Given the description of an element on the screen output the (x, y) to click on. 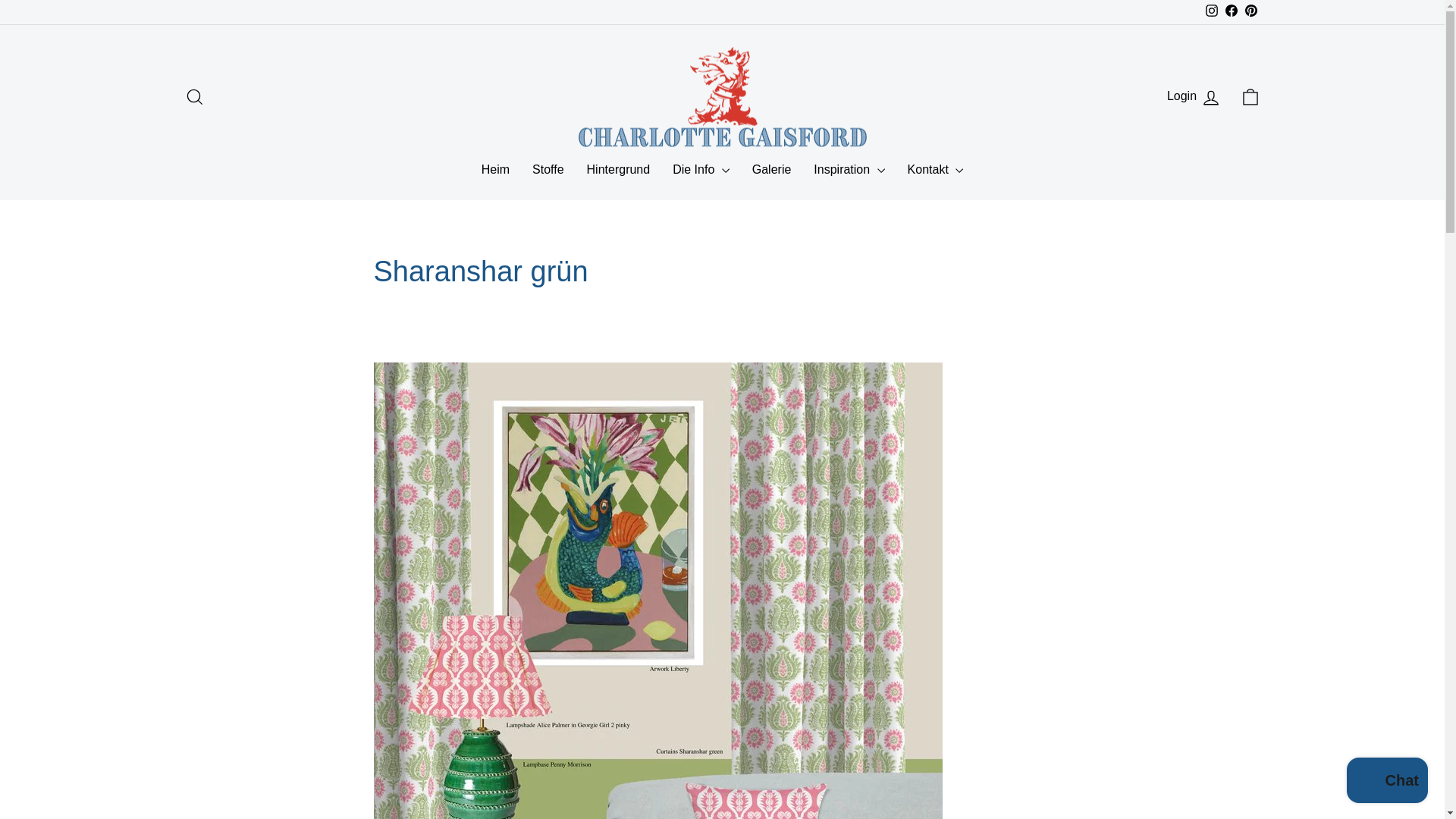
Onlineshop-Chat von Shopify (194, 97)
icon-bag-minimal (1387, 781)
instagram (1249, 96)
icon-search (1193, 97)
account (1211, 10)
